Given the description of an element on the screen output the (x, y) to click on. 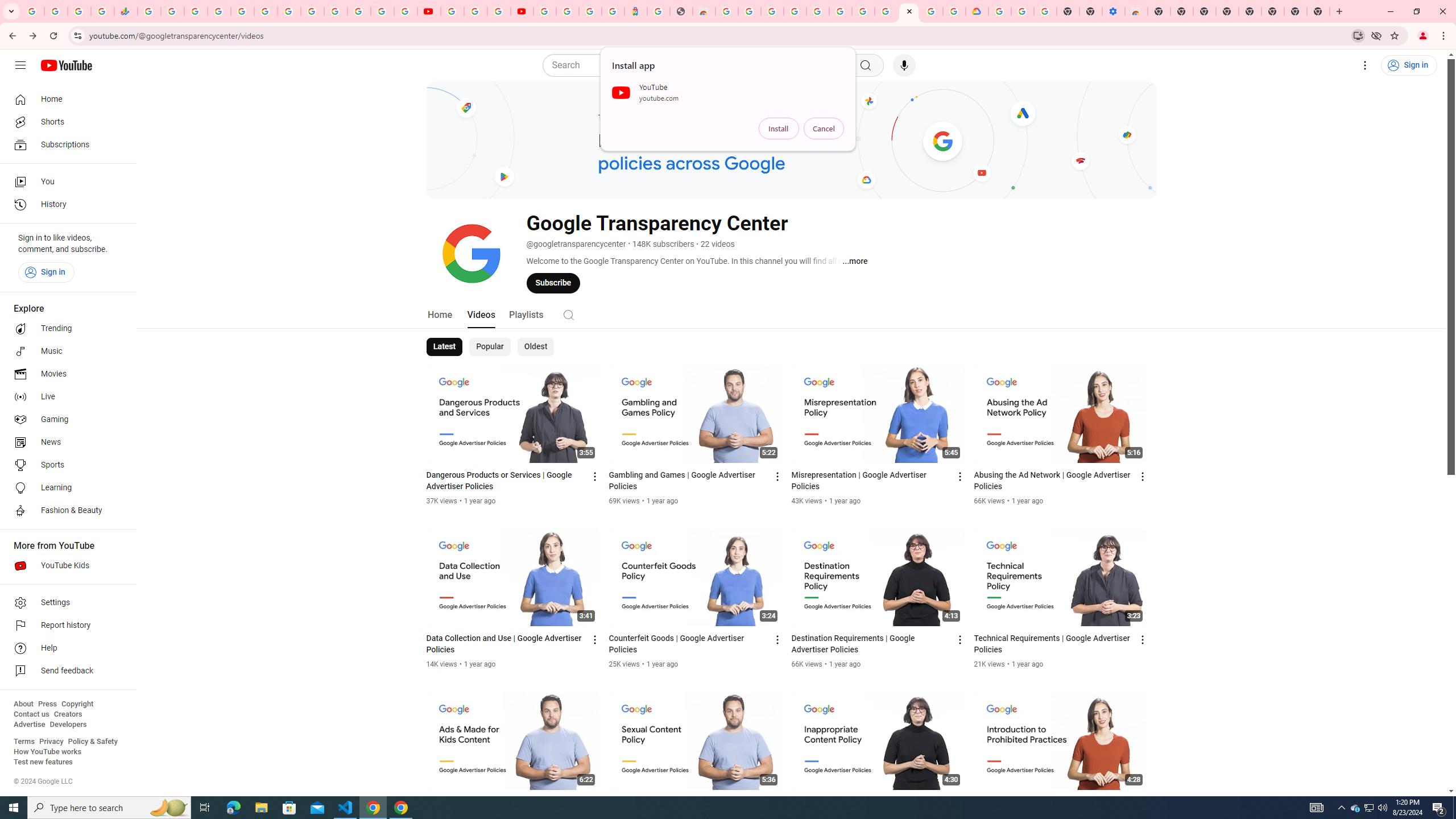
History (64, 204)
Gaming (64, 419)
How YouTube works (47, 751)
Sign in - Google Accounts (817, 11)
Sign in - Google Accounts (381, 11)
Create your Google Account (498, 11)
Learning (64, 487)
